Given the description of an element on the screen output the (x, y) to click on. 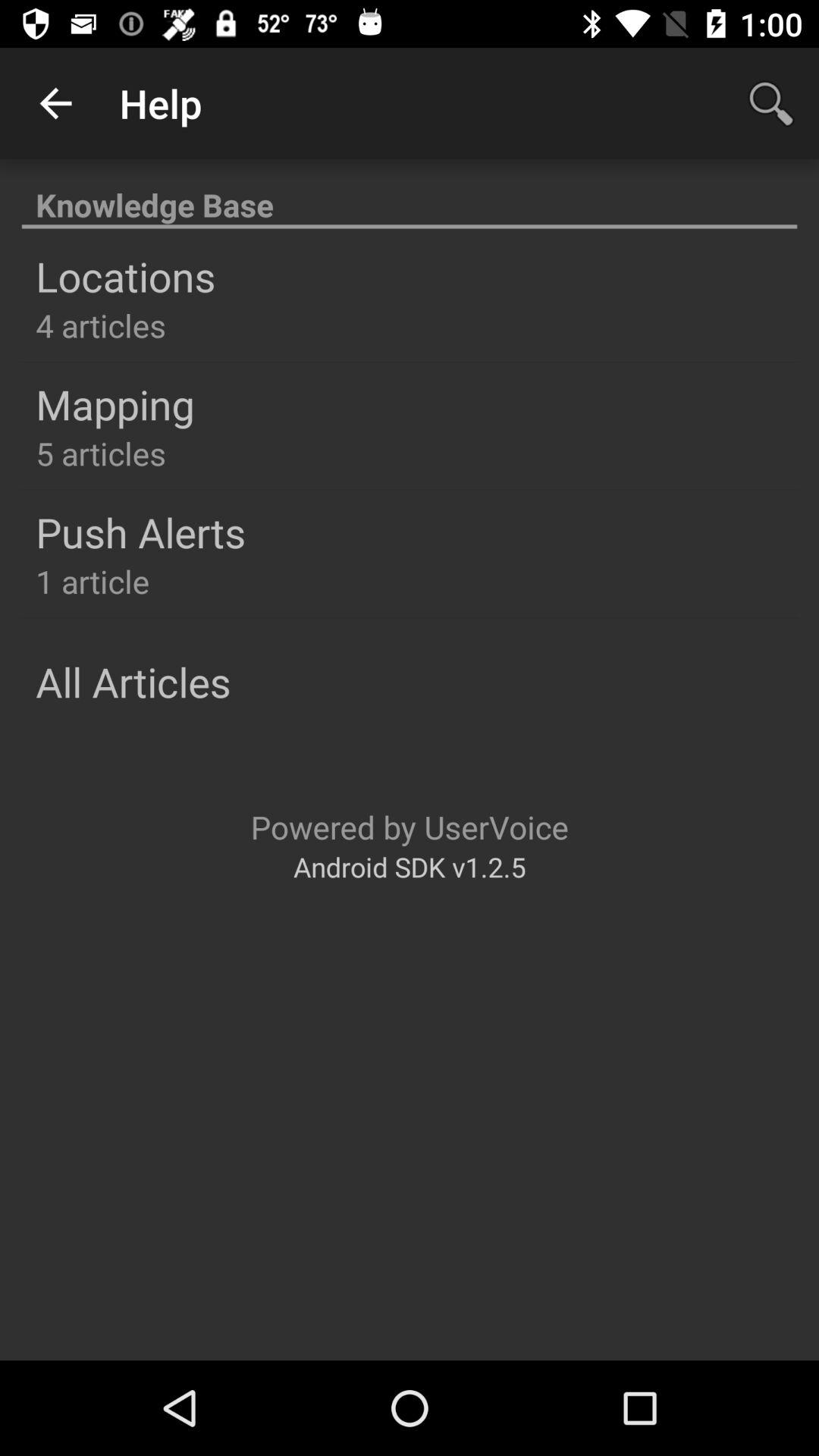
turn on item above 5 articles item (114, 403)
